Given the description of an element on the screen output the (x, y) to click on. 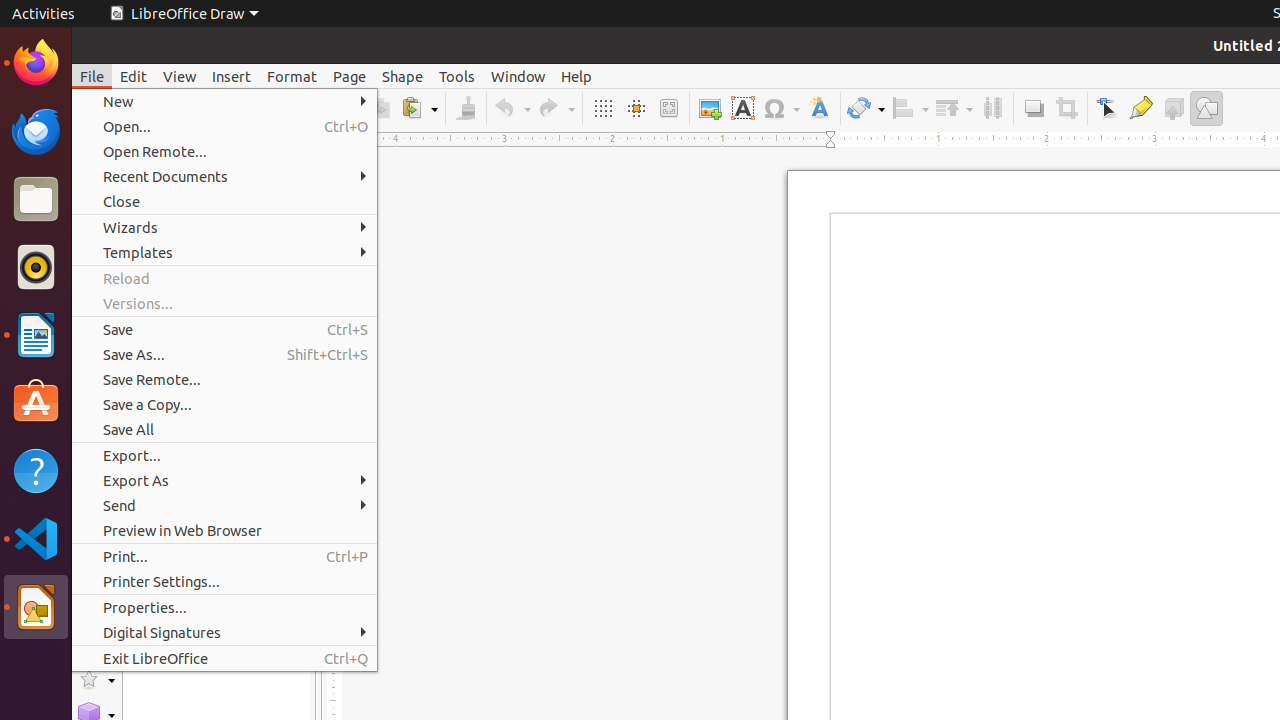
Fontwork Style Element type: toggle-button (819, 108)
Templates Element type: menu (224, 252)
Clone Element type: push-button (465, 108)
Redo Element type: push-button (556, 108)
Format Element type: menu (292, 76)
